Given the description of an element on the screen output the (x, y) to click on. 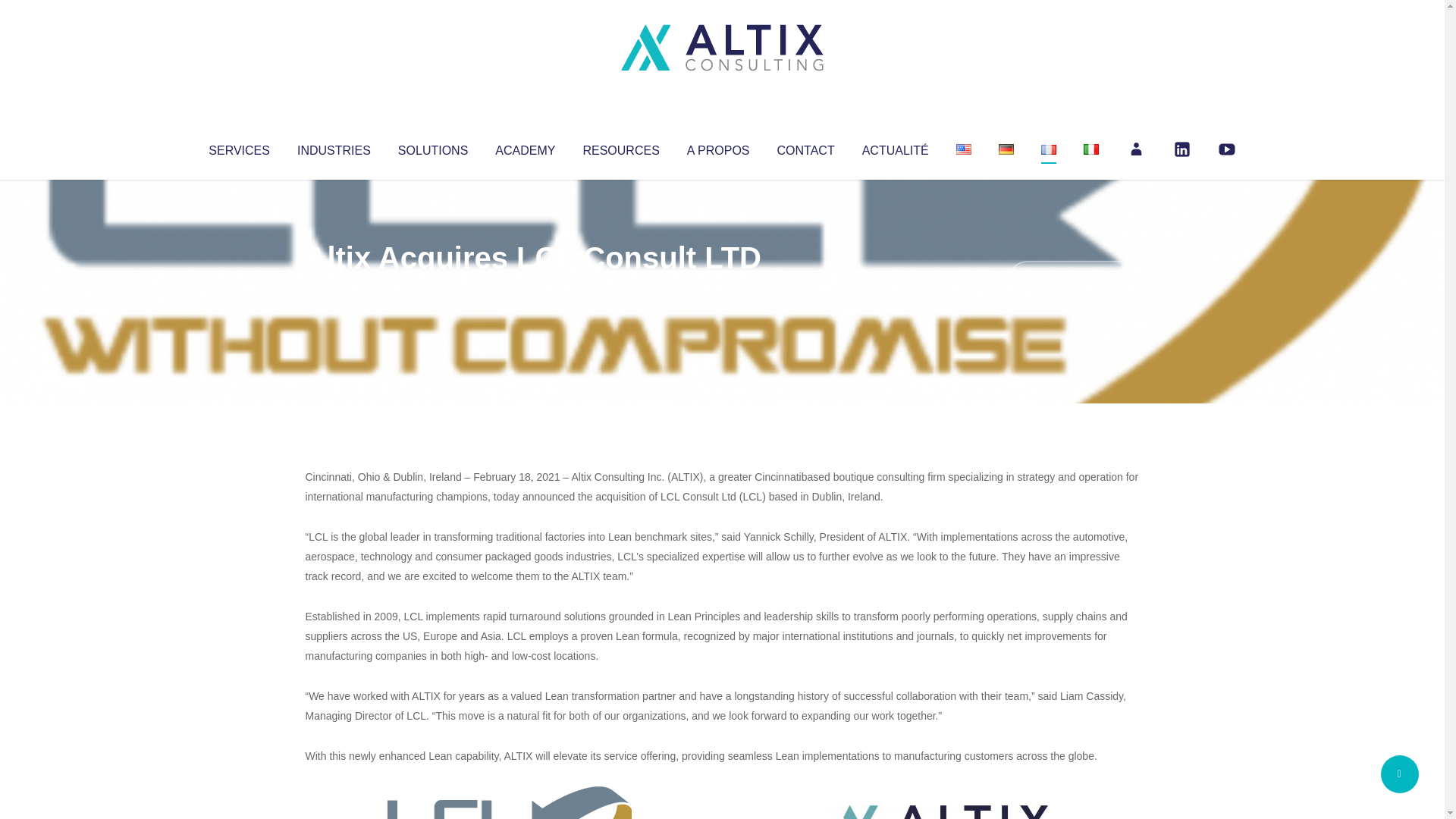
INDUSTRIES (334, 146)
A PROPOS (718, 146)
Articles par Altix (333, 287)
ACADEMY (524, 146)
Uncategorized (530, 287)
SOLUTIONS (432, 146)
RESOURCES (620, 146)
Altix (333, 287)
SERVICES (238, 146)
No Comments (1073, 278)
